Given the description of an element on the screen output the (x, y) to click on. 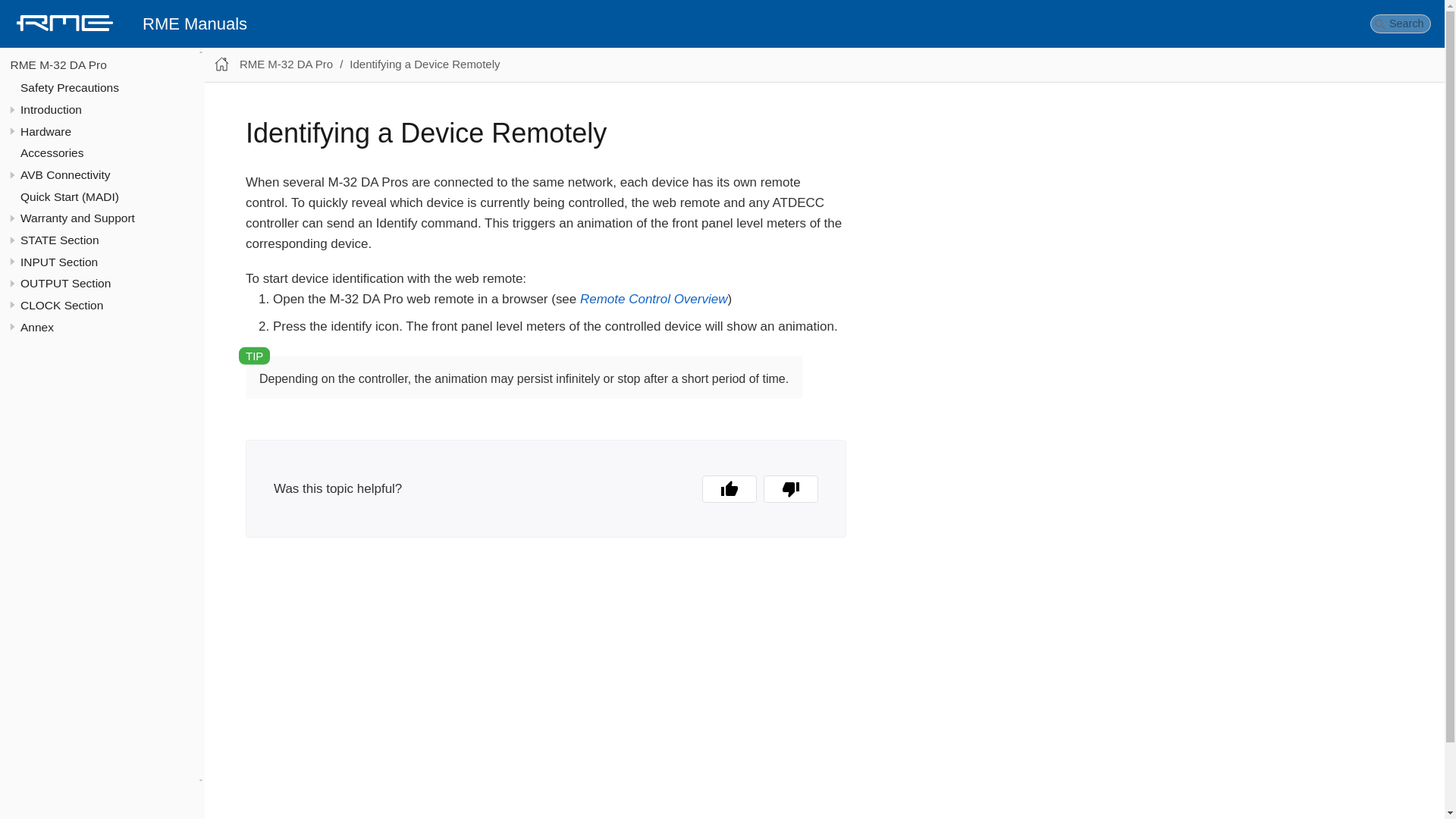
Safety Precautions (69, 87)
RME M-32 DA Pro (58, 64)
Tip (254, 355)
Accessories (51, 152)
Introduction (50, 109)
Hardware (45, 131)
RME Manuals (194, 23)
AVB Connectivity (65, 174)
Warranty and Support (77, 217)
